Given the description of an element on the screen output the (x, y) to click on. 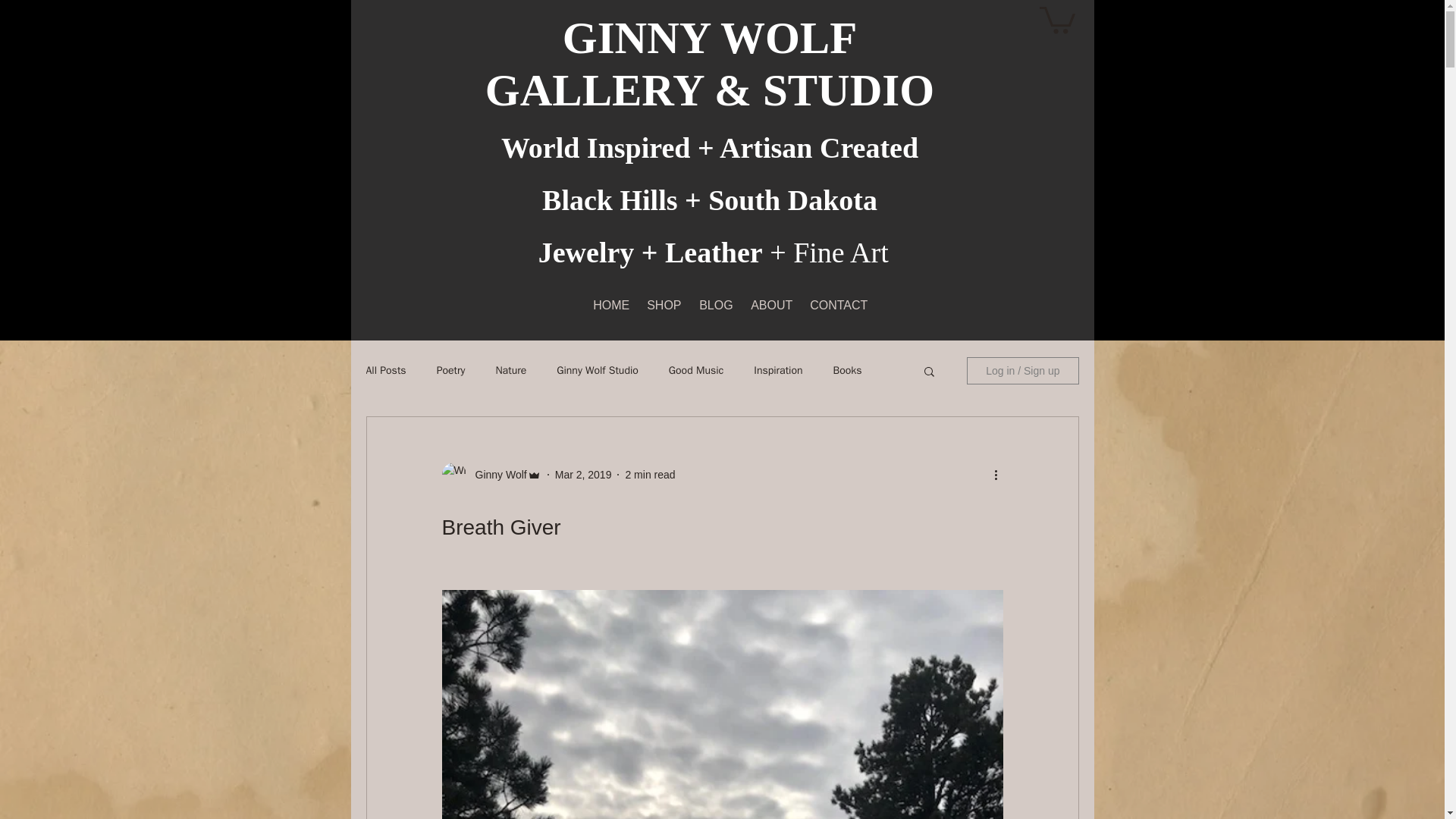
All Posts (385, 370)
2 min read (649, 474)
ABOUT (768, 304)
Poetry (450, 370)
HOME (607, 304)
BLOG (713, 304)
SHOP (660, 304)
Books (846, 370)
Ginny Wolf (495, 474)
CONTACT (832, 304)
